Given the description of an element on the screen output the (x, y) to click on. 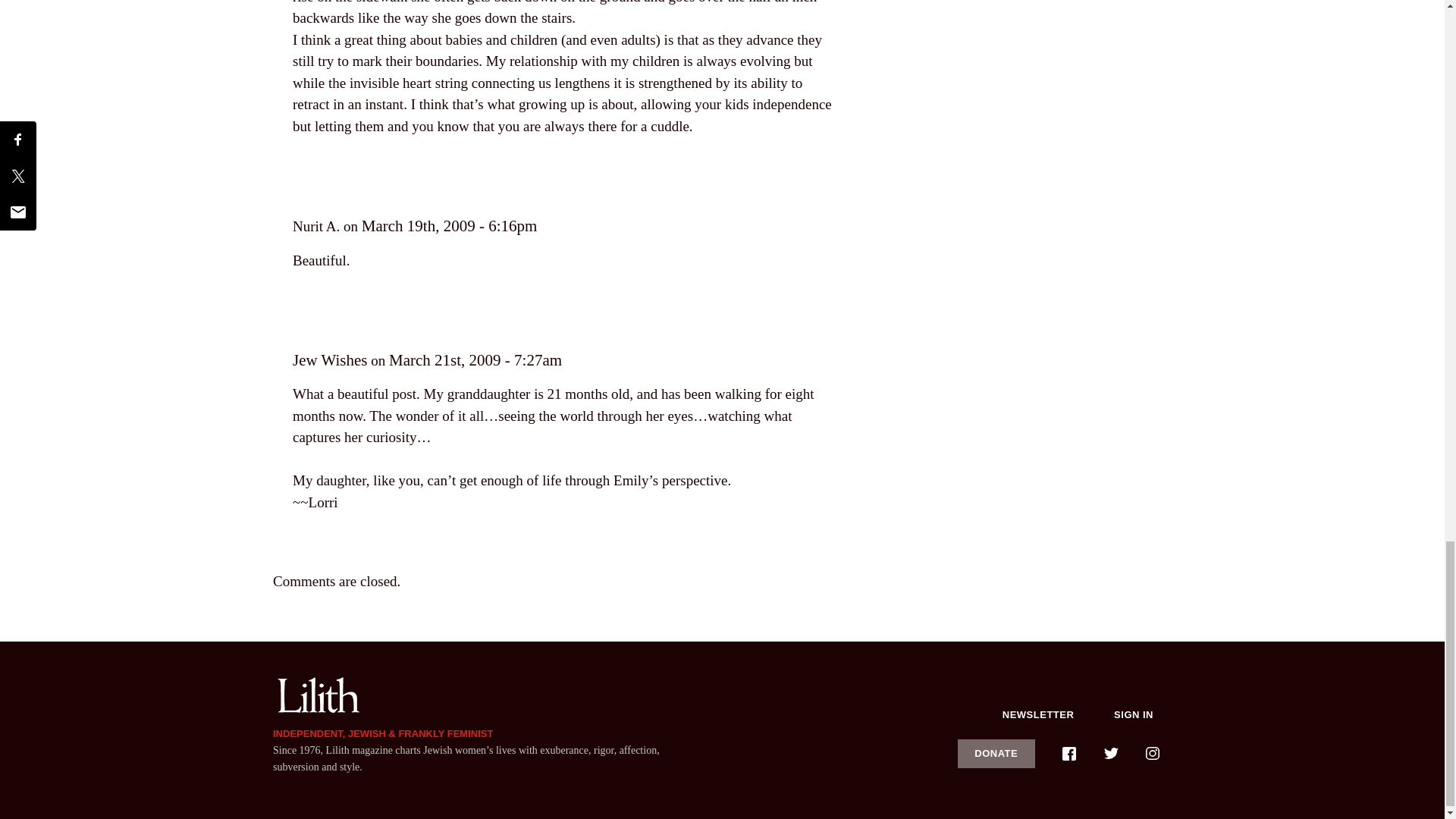
NEWSLETTER (1038, 714)
March 19th, 2009 - 6:16pm (449, 226)
Jew Wishes (330, 360)
March 21st, 2009 - 7:27am (475, 360)
